Given the description of an element on the screen output the (x, y) to click on. 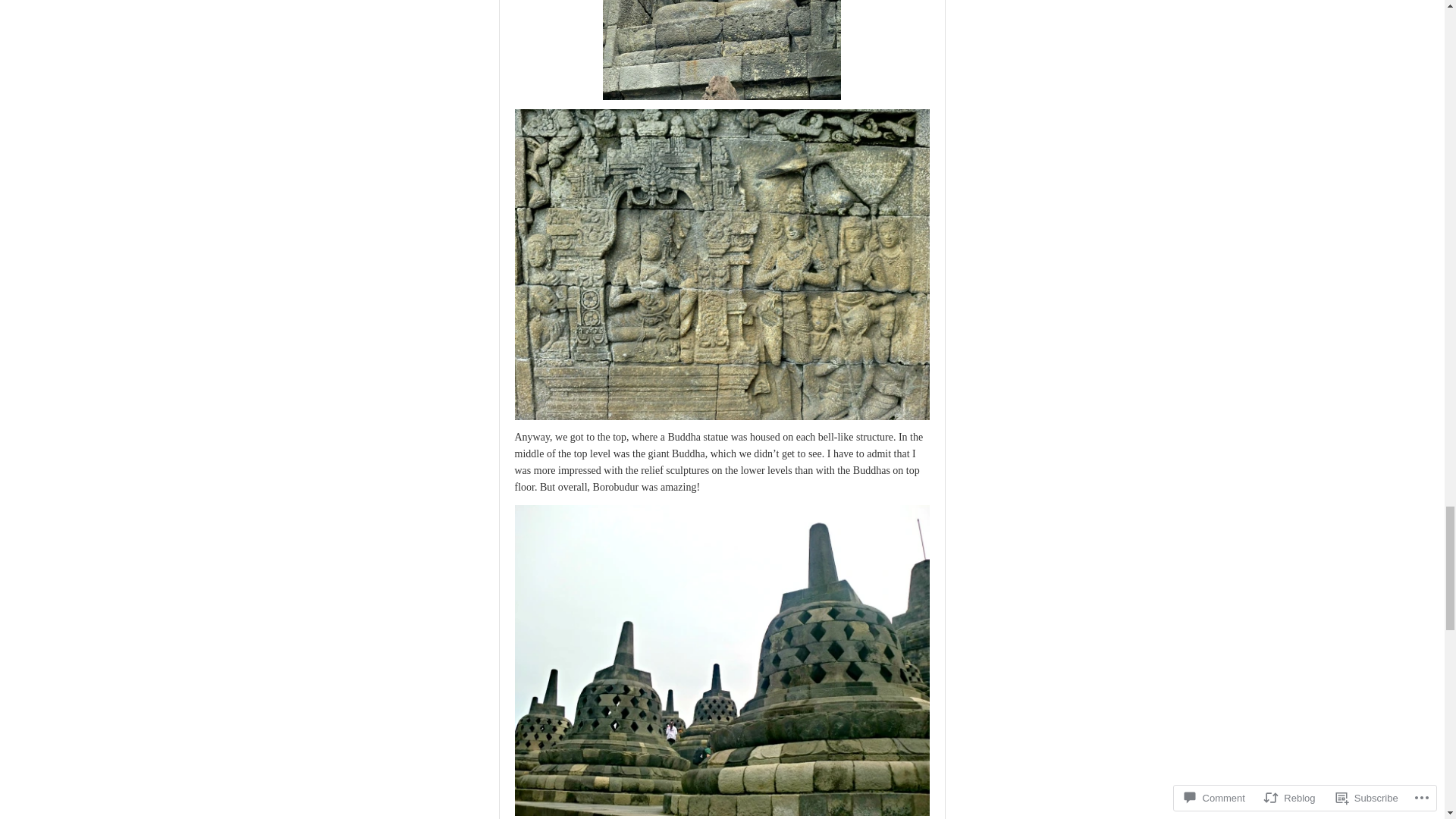
buddha (721, 49)
